Given the description of an element on the screen output the (x, y) to click on. 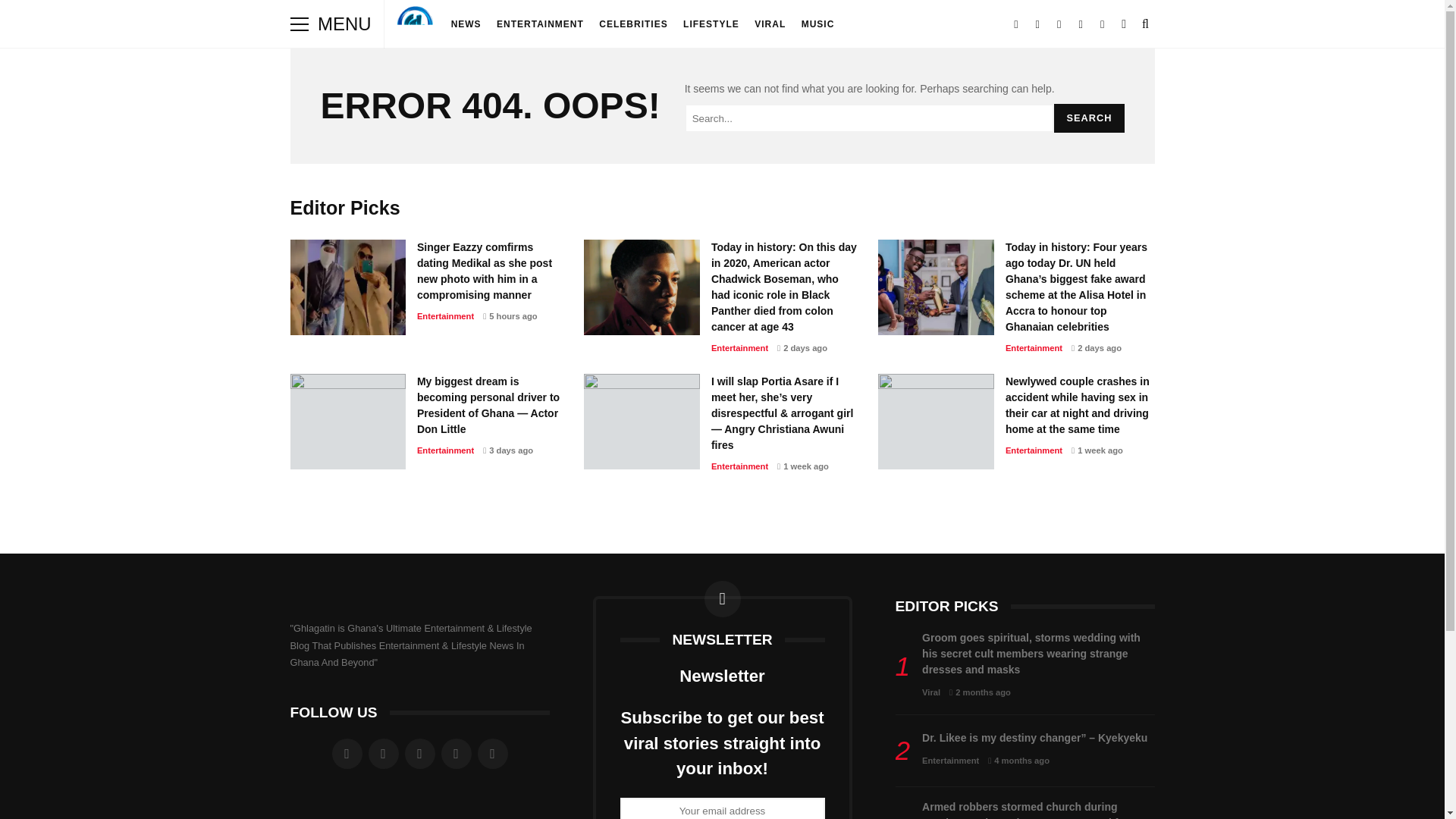
SEARCH (1089, 118)
VIRAL (770, 24)
Entertainment (445, 316)
CELEBRITIES (632, 24)
LIFESTYLE (711, 24)
Entertainment (739, 347)
